Given the description of an element on the screen output the (x, y) to click on. 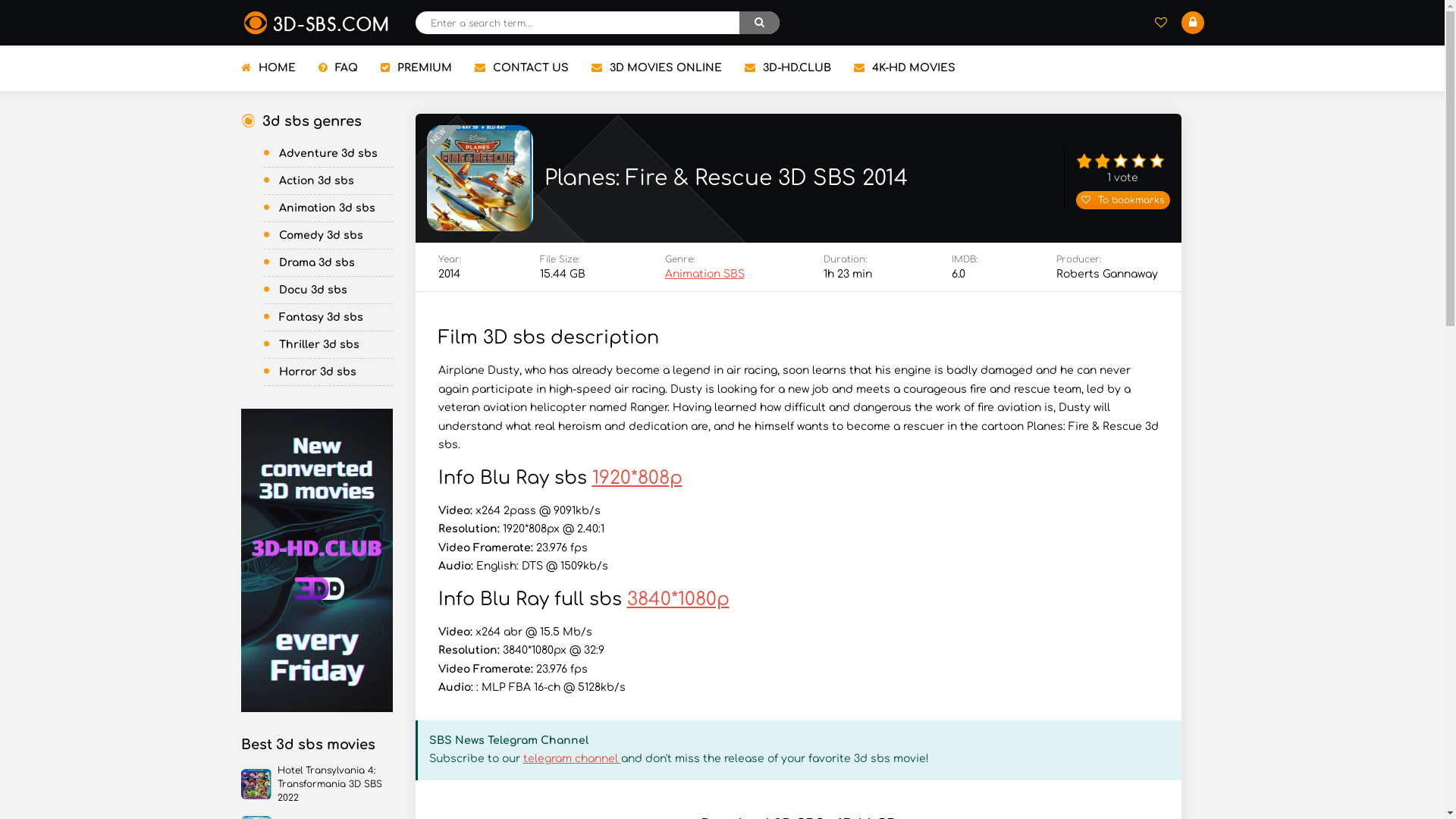
Action 3d sbs Element type: text (327, 180)
4 Element type: text (1140, 163)
Thriller 3d sbs Element type: text (327, 344)
3D MOVIES ONLINE Element type: text (656, 68)
Docu 3d sbs Element type: text (327, 290)
Animation SBS Element type: text (704, 273)
HOME Element type: text (268, 68)
To bookmarks Element type: text (1122, 200)
FAQ Element type: text (337, 68)
Hotel Transylvania 4: Transformania 3D SBS 2022 Element type: text (316, 783)
Drama 3d sbs Element type: text (327, 262)
Fantasy 3d sbs Element type: text (327, 317)
3 Element type: text (1121, 163)
1 Element type: text (1085, 163)
Horror 3d sbs Element type: text (327, 371)
3840*1080p Element type: text (677, 598)
Comedy 3d sbs Element type: text (327, 235)
1920*808p Element type: text (636, 477)
Animation 3d sbs Element type: text (327, 208)
2 Element type: text (1103, 163)
3D-HD.CLUB Element type: text (787, 68)
CONTACT US Element type: text (521, 68)
5 Element type: text (1158, 163)
PREMIUM Element type: text (415, 68)
Adventure 3d sbs Element type: text (327, 153)
telegram channel Element type: text (572, 758)
4K-HD MOVIES Element type: text (904, 68)
